Given the description of an element on the screen output the (x, y) to click on. 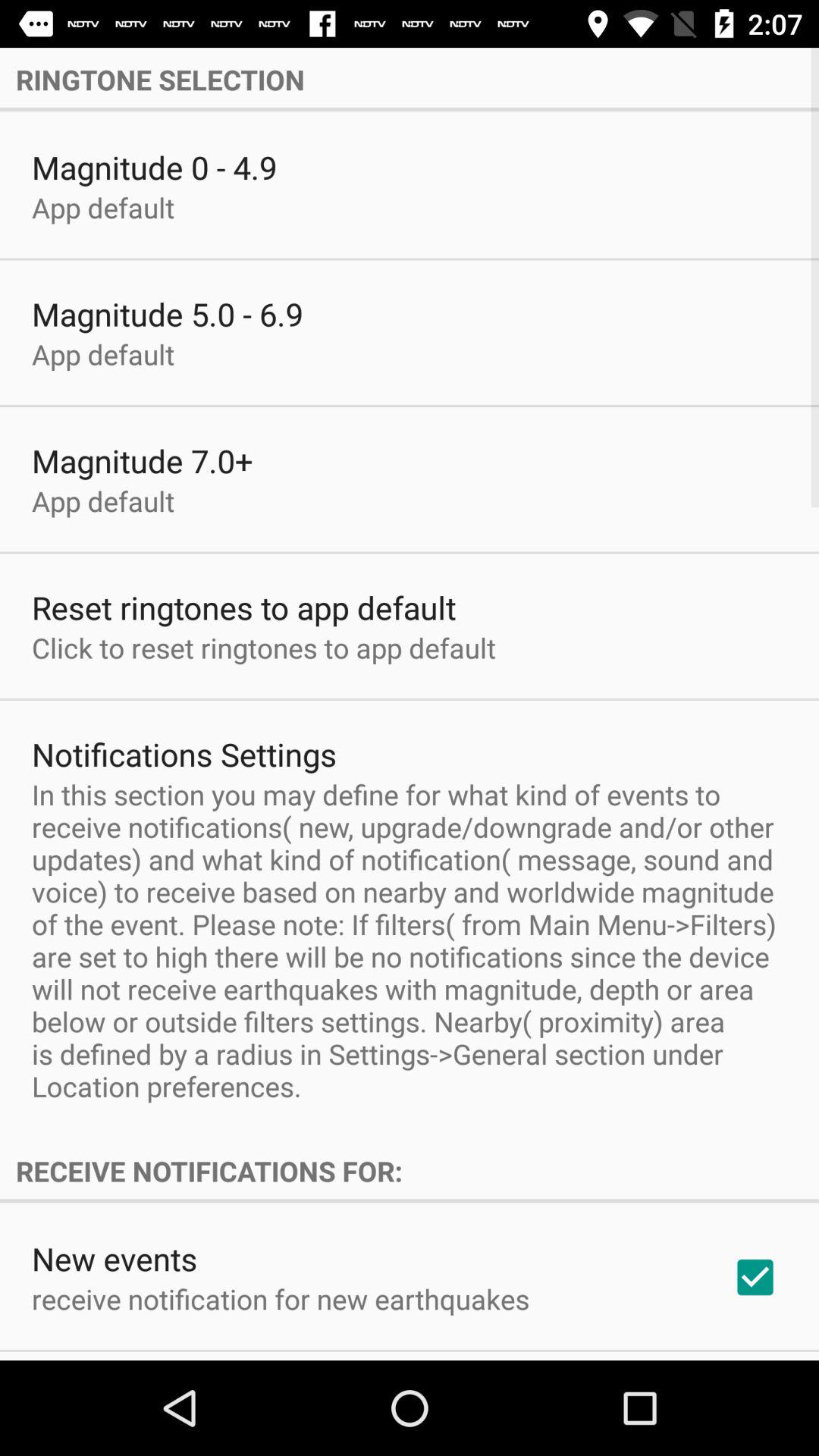
jump to the in this section icon (409, 940)
